Given the description of an element on the screen output the (x, y) to click on. 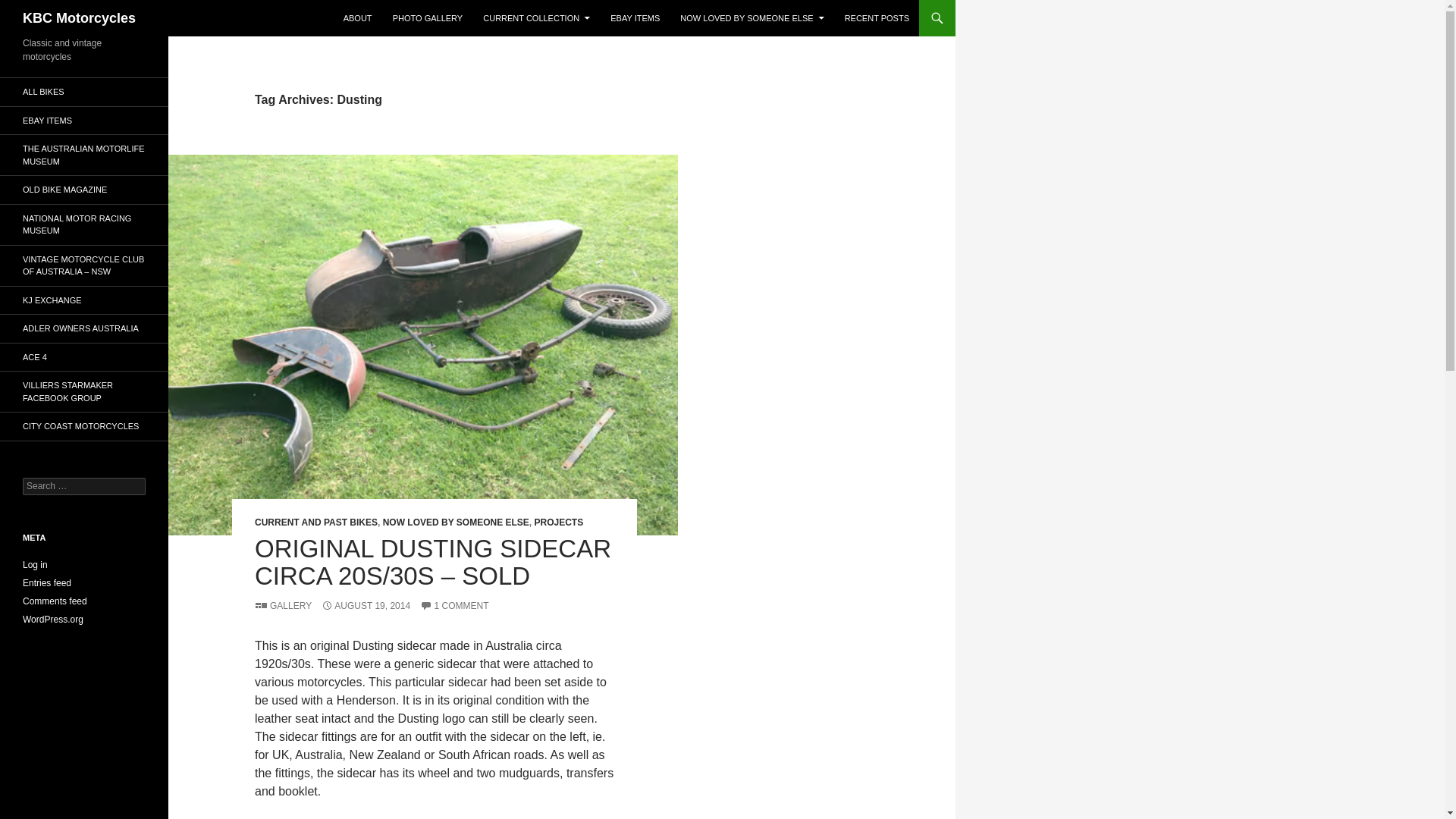
CURRENT AND PAST BIKES (315, 521)
RECENT POSTS (876, 18)
1 COMMENT (453, 605)
KBC Motorcycles (79, 18)
CURRENT COLLECTION (536, 18)
NOW LOVED BY SOMEONE ELSE (455, 521)
NOW LOVED BY SOMEONE ELSE (751, 18)
GALLERY (282, 605)
AUGUST 19, 2014 (365, 605)
ABOUT (357, 18)
PHOTO GALLERY (427, 18)
PROJECTS (558, 521)
EBAY ITEMS (634, 18)
